Given the description of an element on the screen output the (x, y) to click on. 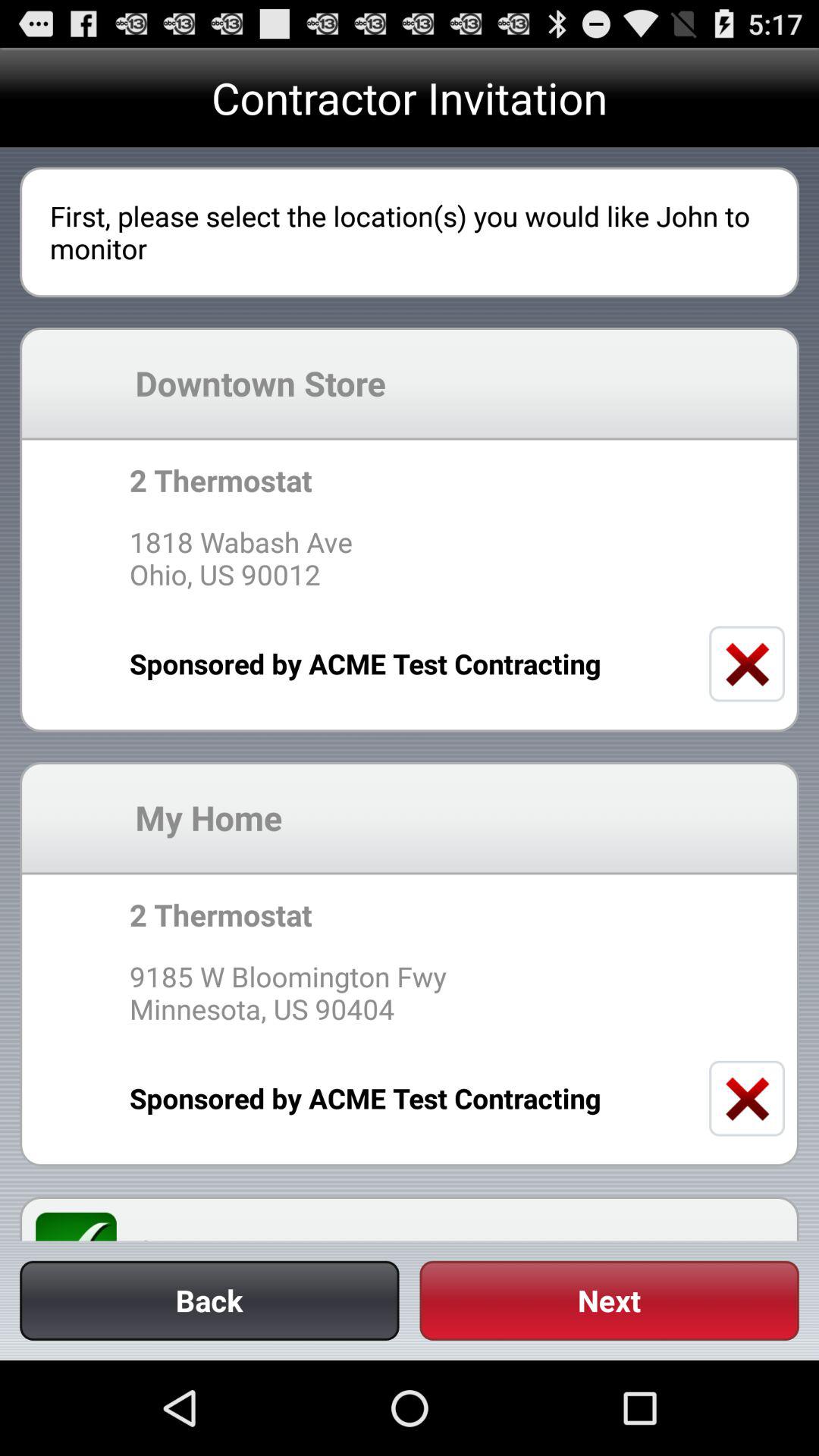
choose the app to the left of summer home app (85, 1226)
